Given the description of an element on the screen output the (x, y) to click on. 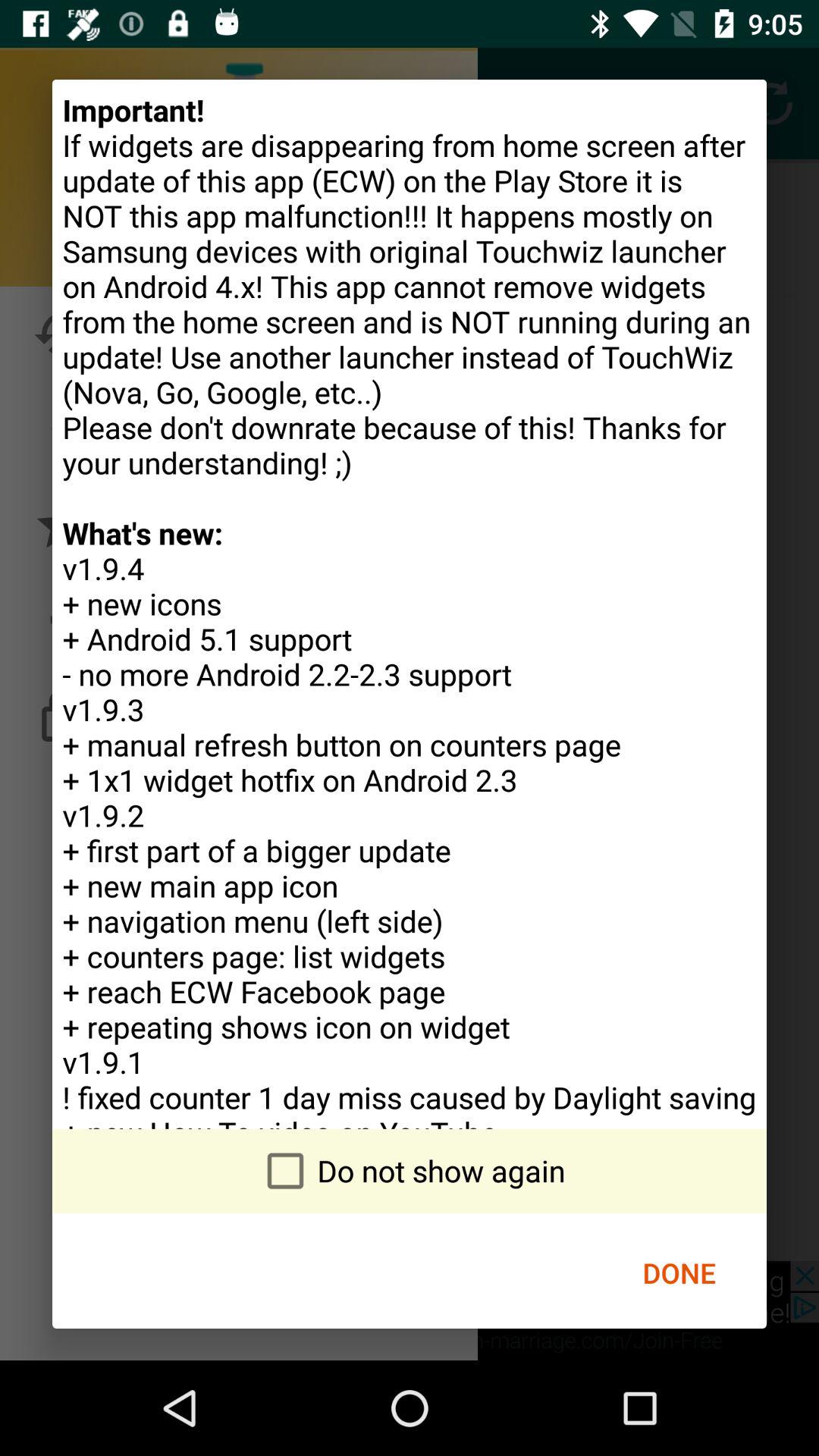
jump to do not show (409, 1170)
